Given the description of an element on the screen output the (x, y) to click on. 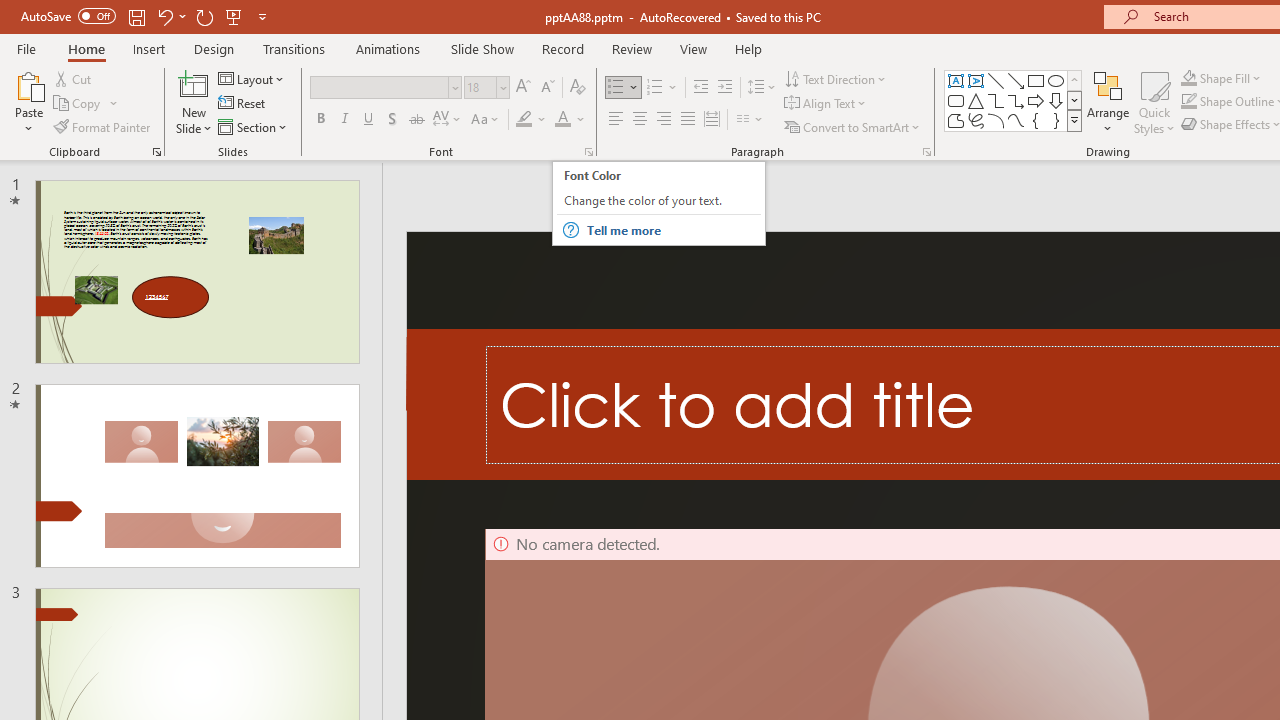
Tell me more (672, 230)
